Given the description of an element on the screen output the (x, y) to click on. 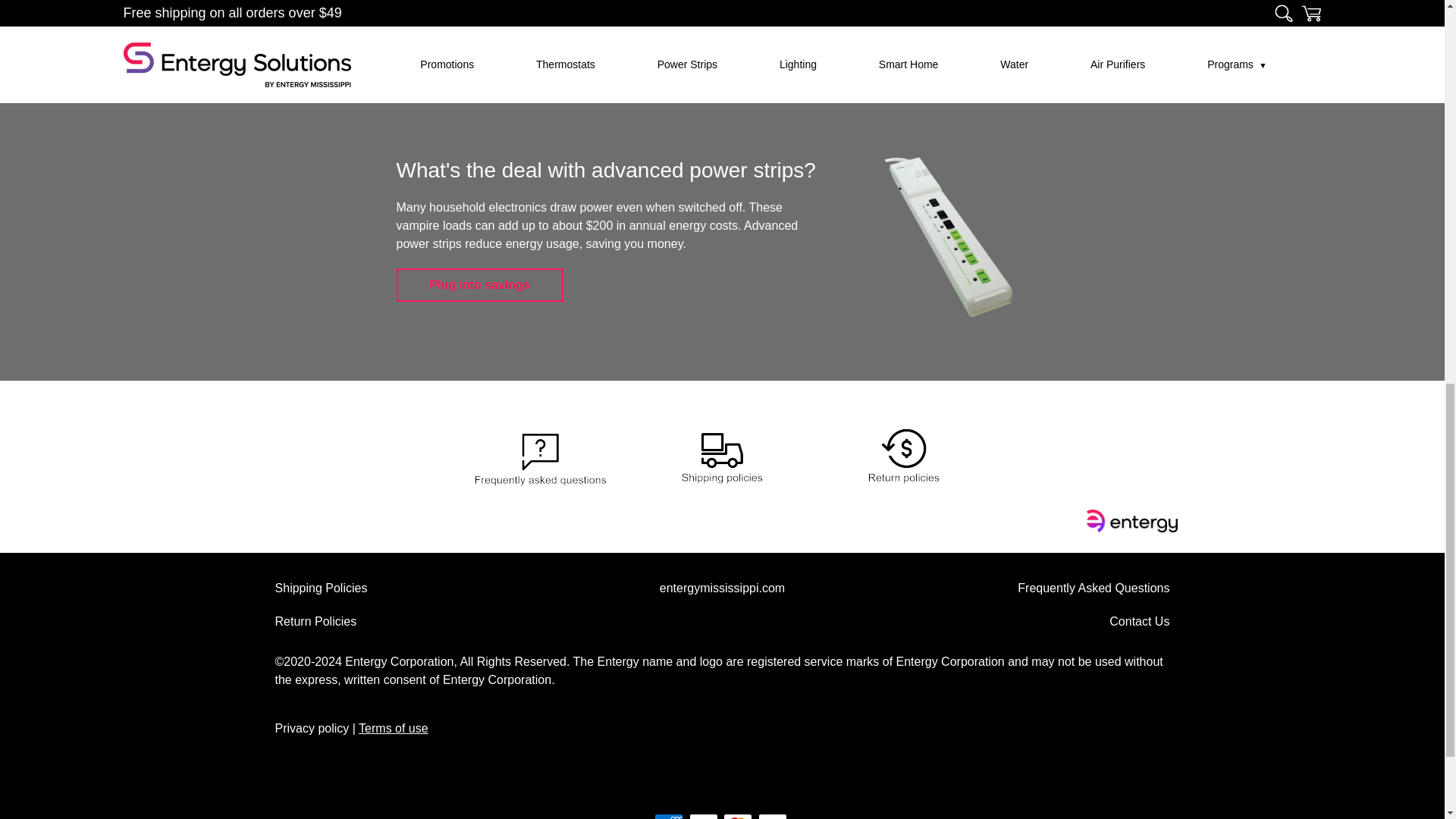
Discover (702, 816)
Shipping Policies (321, 587)
American Express (667, 816)
Visa (772, 816)
Return Policies (315, 621)
Plug into savings (479, 285)
Mastercard (737, 816)
